Given the description of an element on the screen output the (x, y) to click on. 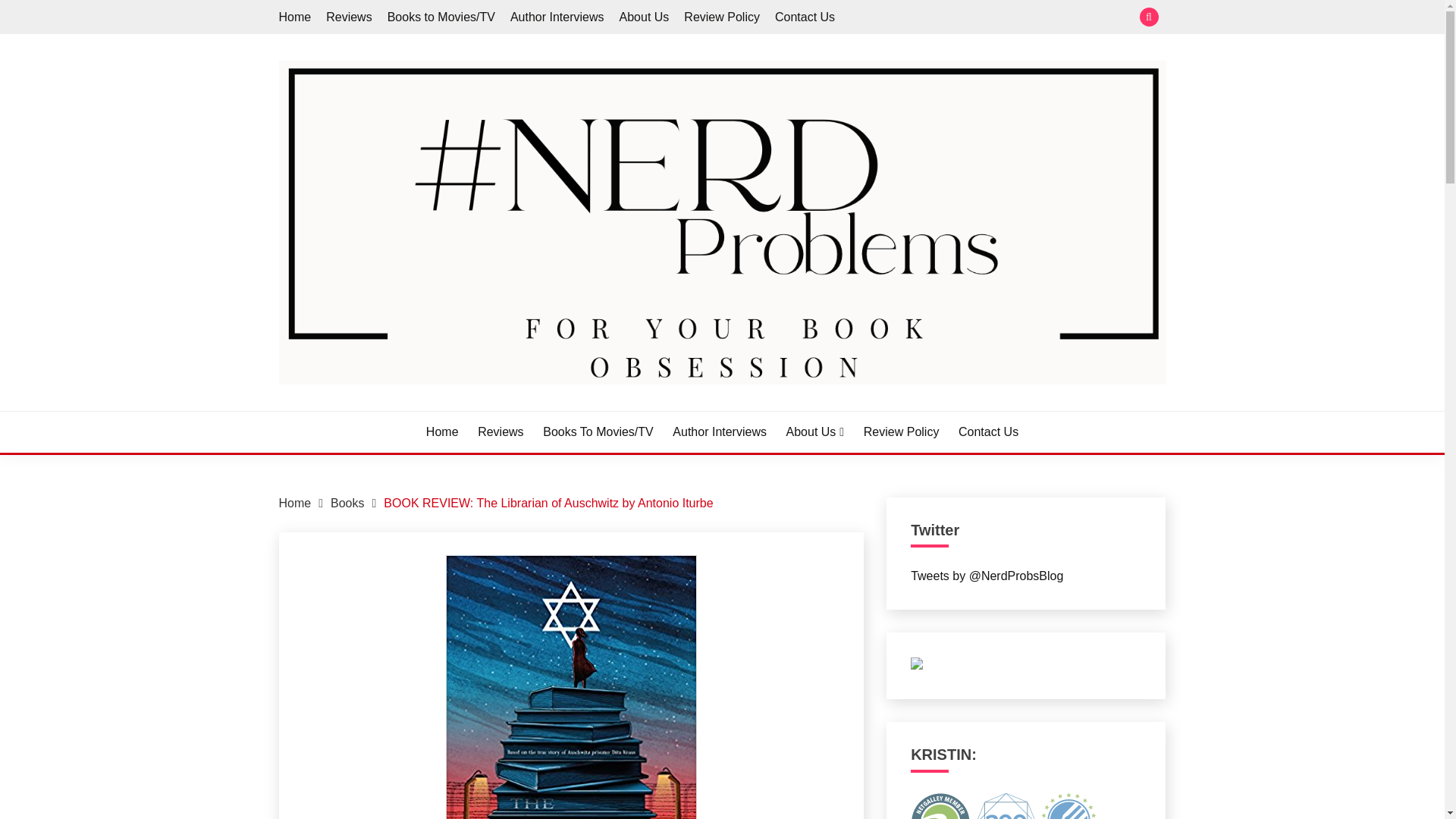
Search (832, 18)
Home (442, 432)
Reviews Published (1069, 805)
Contact Us (804, 16)
Author Interviews (719, 432)
Author Interviews (557, 16)
About Us (644, 16)
Contact Us (987, 432)
Books (347, 502)
BOOK REVIEW: The Librarian of Auschwitz by Antonio Iturbe (548, 502)
Review Policy (901, 432)
About Us (815, 432)
Reviews (499, 432)
Professional Reader (941, 805)
Review Policy (722, 16)
